Given the description of an element on the screen output the (x, y) to click on. 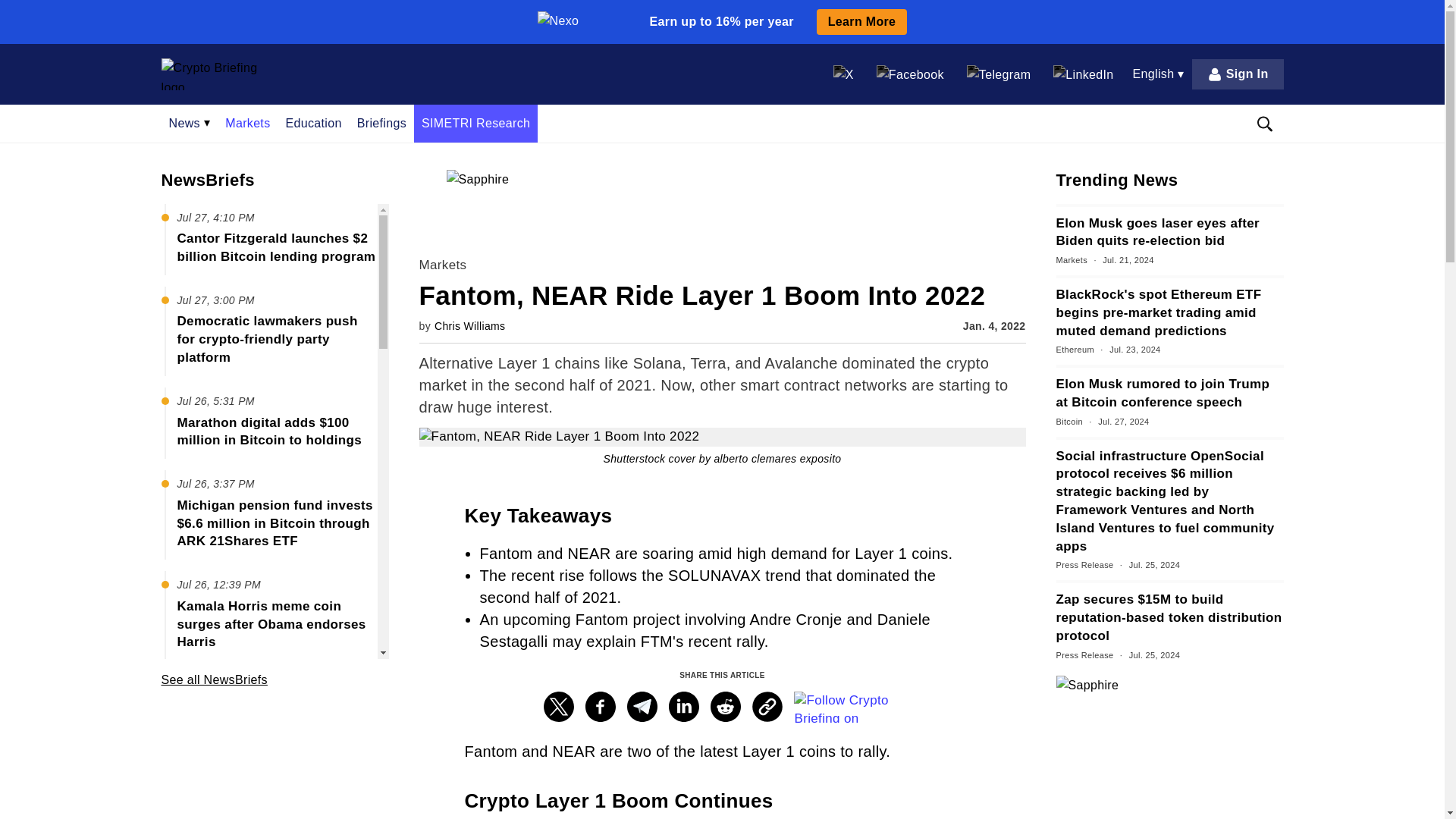
News (188, 123)
chainlink enter bull rally-cover (722, 436)
Sign In (1238, 73)
Sign In (1238, 73)
Learn More (861, 22)
